Given the description of an element on the screen output the (x, y) to click on. 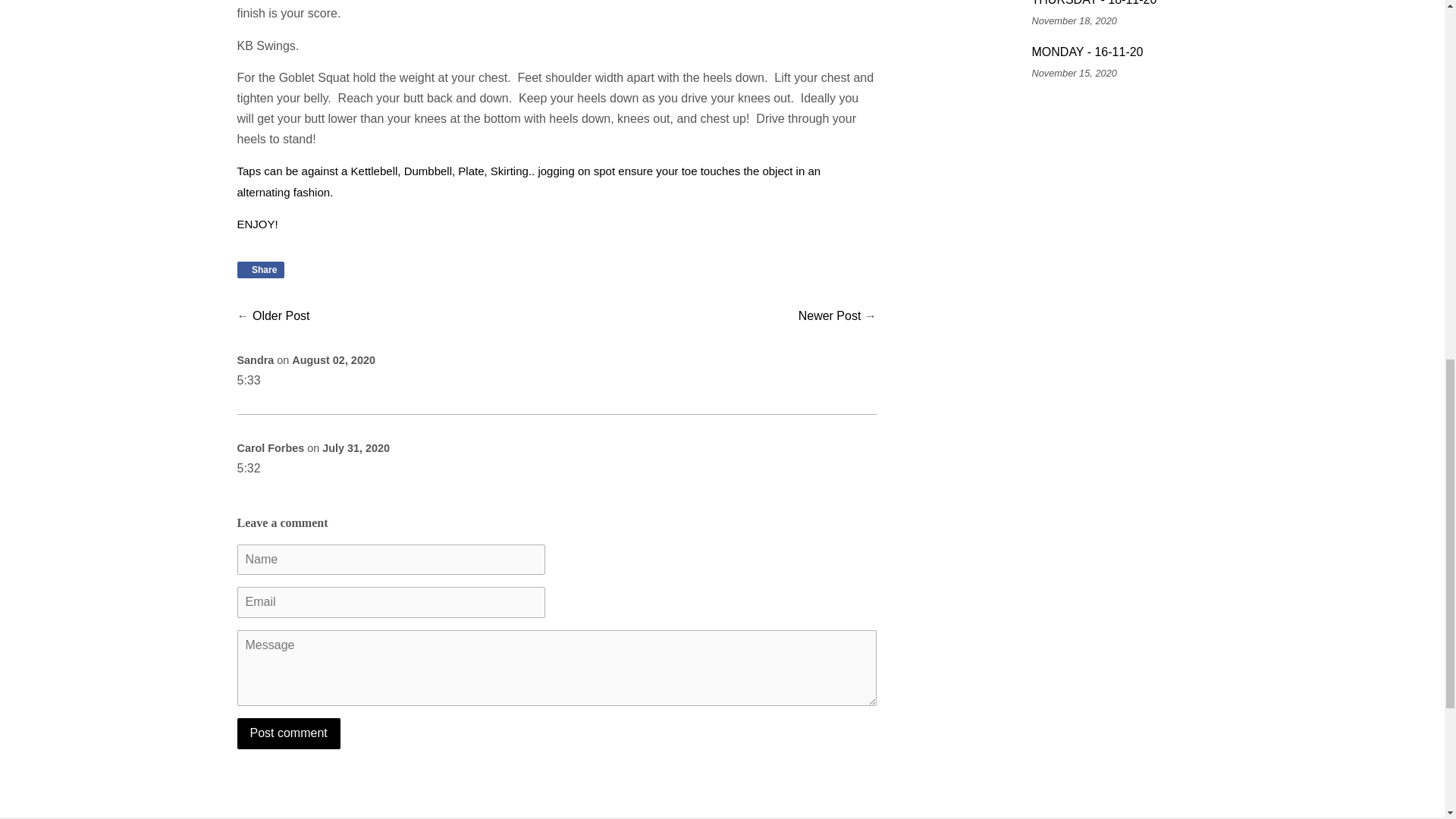
Post comment (287, 733)
Share on Facebook (259, 269)
